Given the description of an element on the screen output the (x, y) to click on. 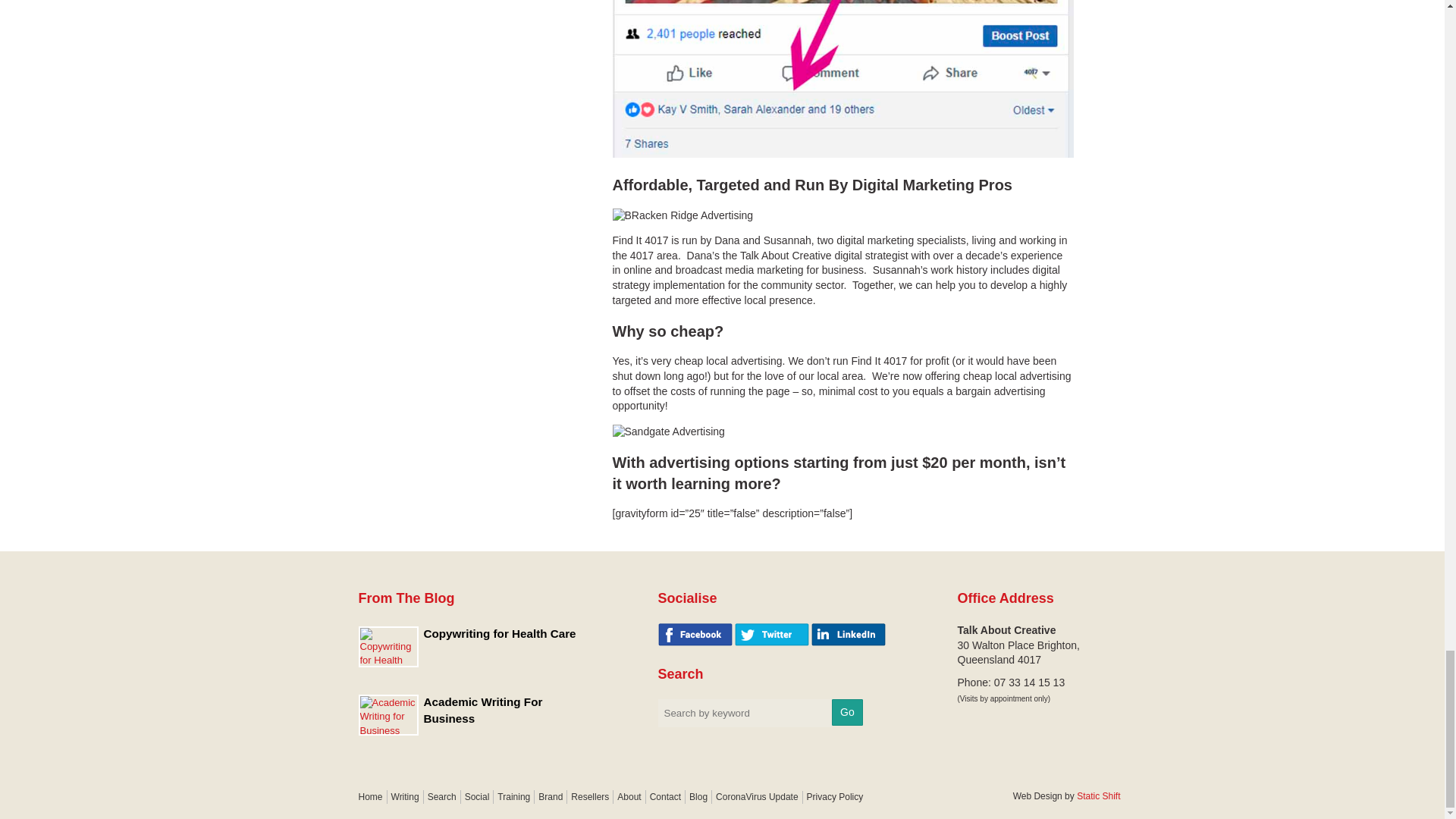
Go (847, 712)
